Given the description of an element on the screen output the (x, y) to click on. 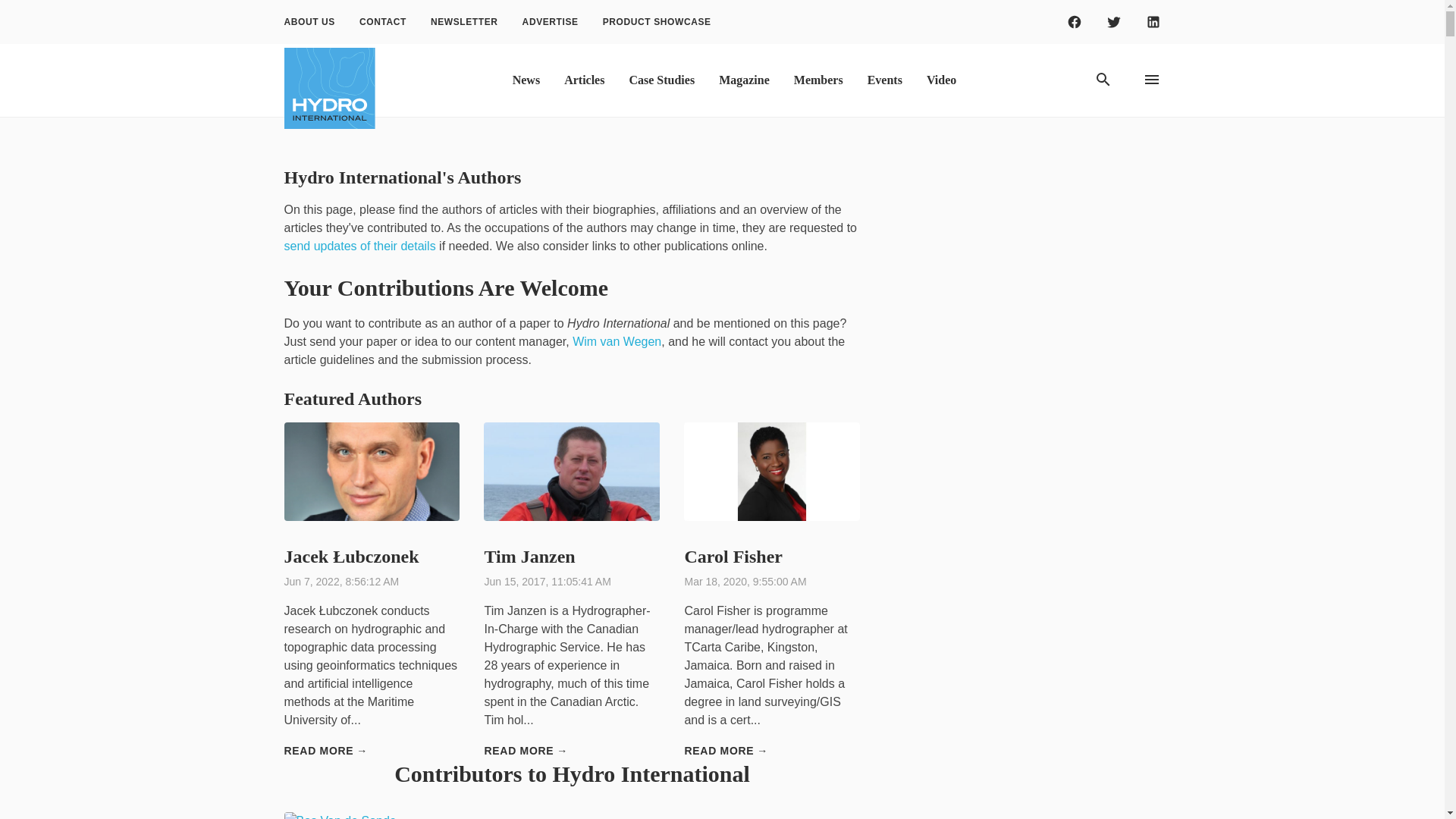
ADVERTISE (551, 22)
send updates of their details (359, 245)
NEWSLETTER (465, 22)
Case Studies (660, 80)
ABOUT US (308, 22)
CONTACT (383, 22)
PRODUCT SHOWCASE (657, 22)
Magazine (743, 80)
Wim van Wegen (616, 341)
Members (818, 80)
